Given the description of an element on the screen output the (x, y) to click on. 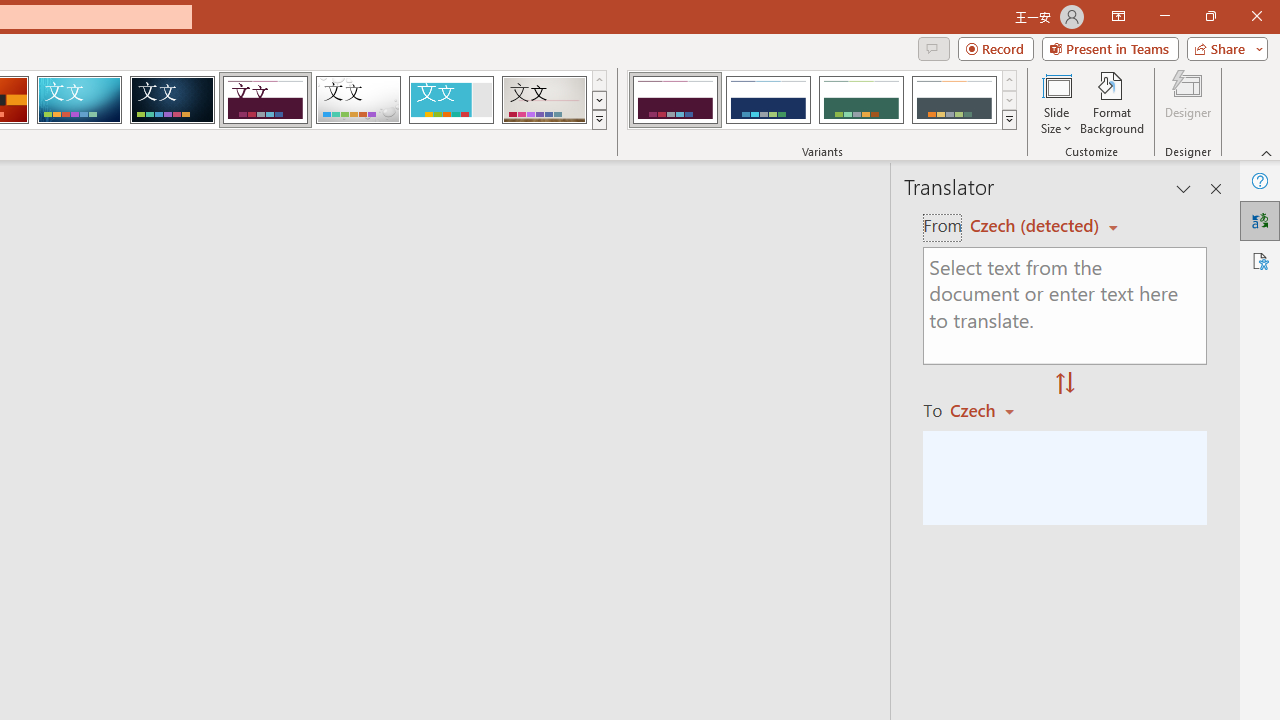
Gallery (544, 100)
Themes (598, 120)
Dividend Variant 1 (674, 100)
Dividend Variant 3 (861, 100)
Variants (1009, 120)
